Given the description of an element on the screen output the (x, y) to click on. 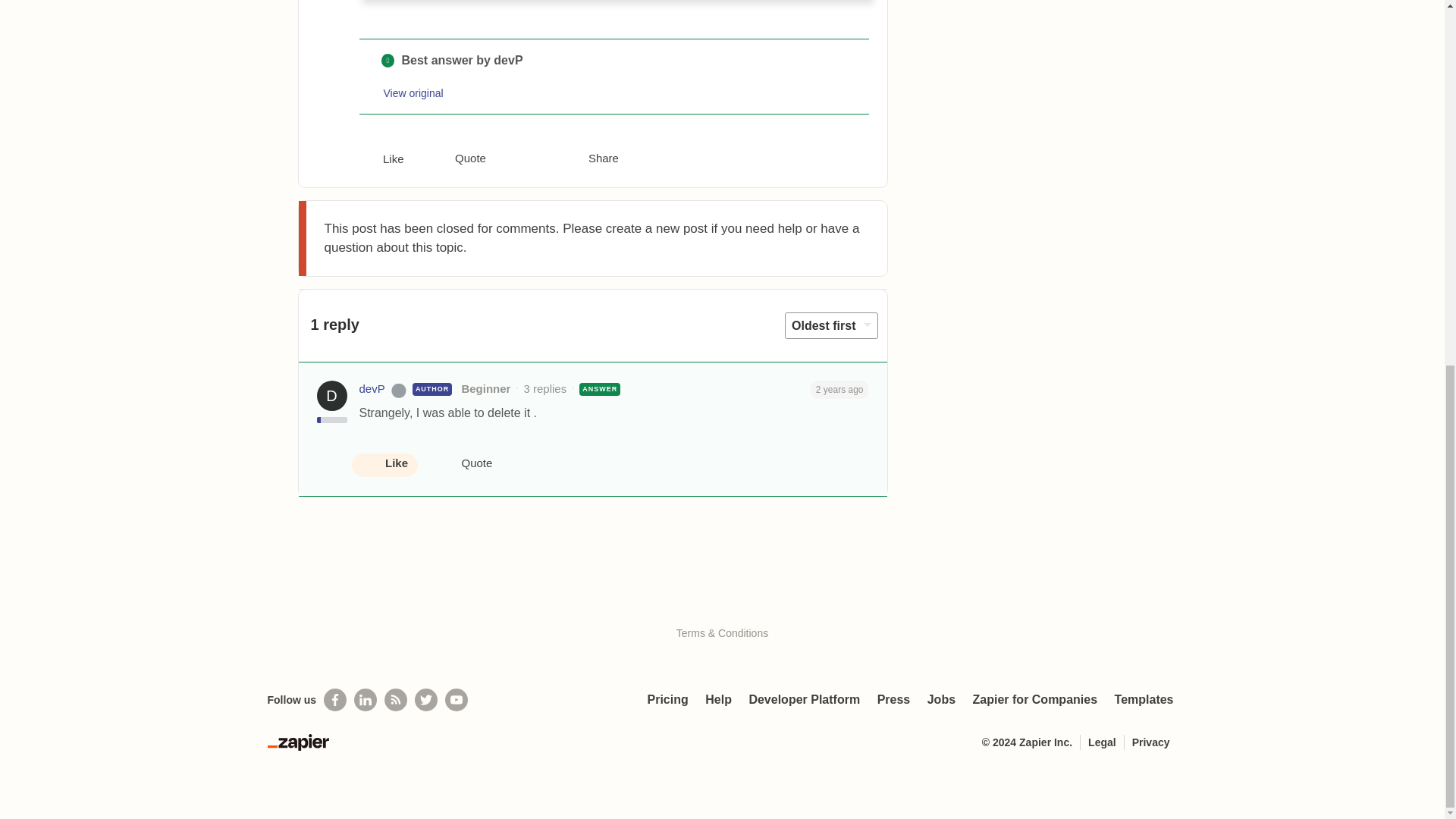
devP (372, 389)
Follow us on Facebook (334, 699)
Follow us on LinkedIn (365, 699)
Visit Gainsight.com (722, 601)
Quote (458, 159)
View original (414, 92)
Like (382, 159)
See helpful Zapier videos on Youtube (456, 699)
Subscribe to our blog (395, 699)
